Given the description of an element on the screen output the (x, y) to click on. 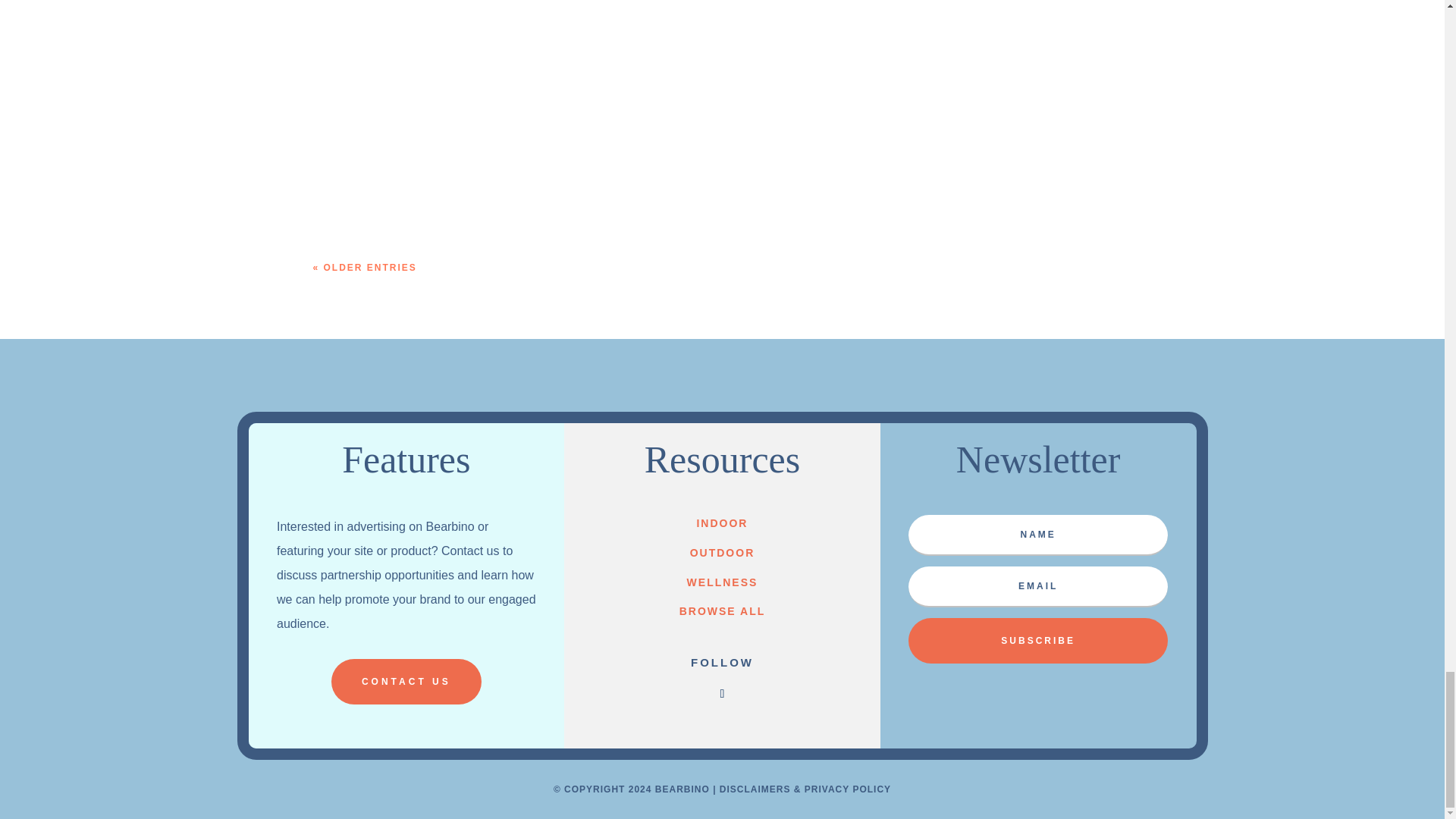
INDOOR (721, 522)
CONTACT US (406, 681)
BROWSE ALL (722, 611)
OUTDOOR (722, 552)
WELLNESS (722, 582)
SUBSCRIBE (1037, 640)
Follow on Facebook (721, 693)
